Given the description of an element on the screen output the (x, y) to click on. 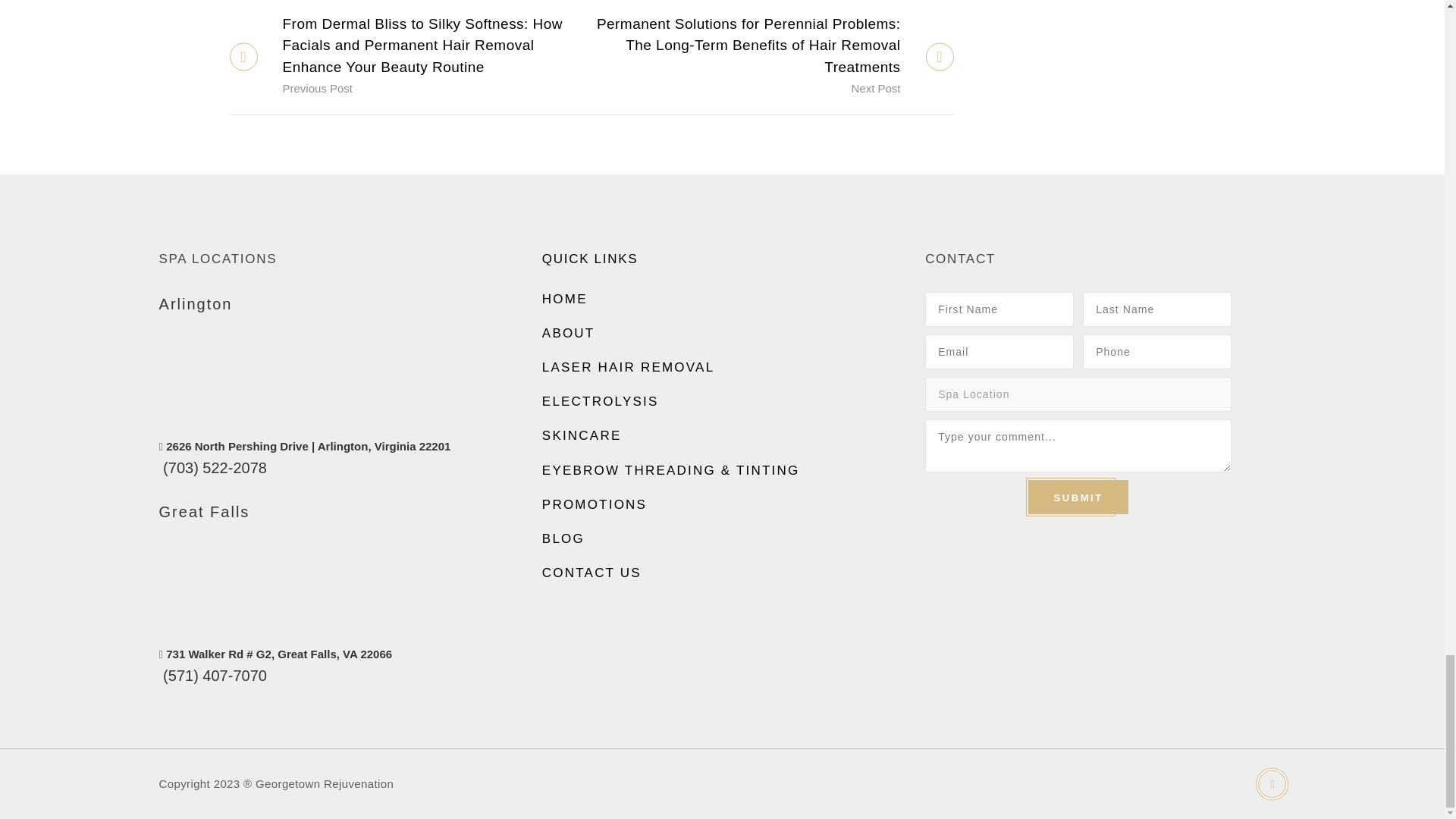
Great Falls Spa Location (278, 653)
Submit (1076, 496)
Arlington Spa Location (307, 445)
